Given the description of an element on the screen output the (x, y) to click on. 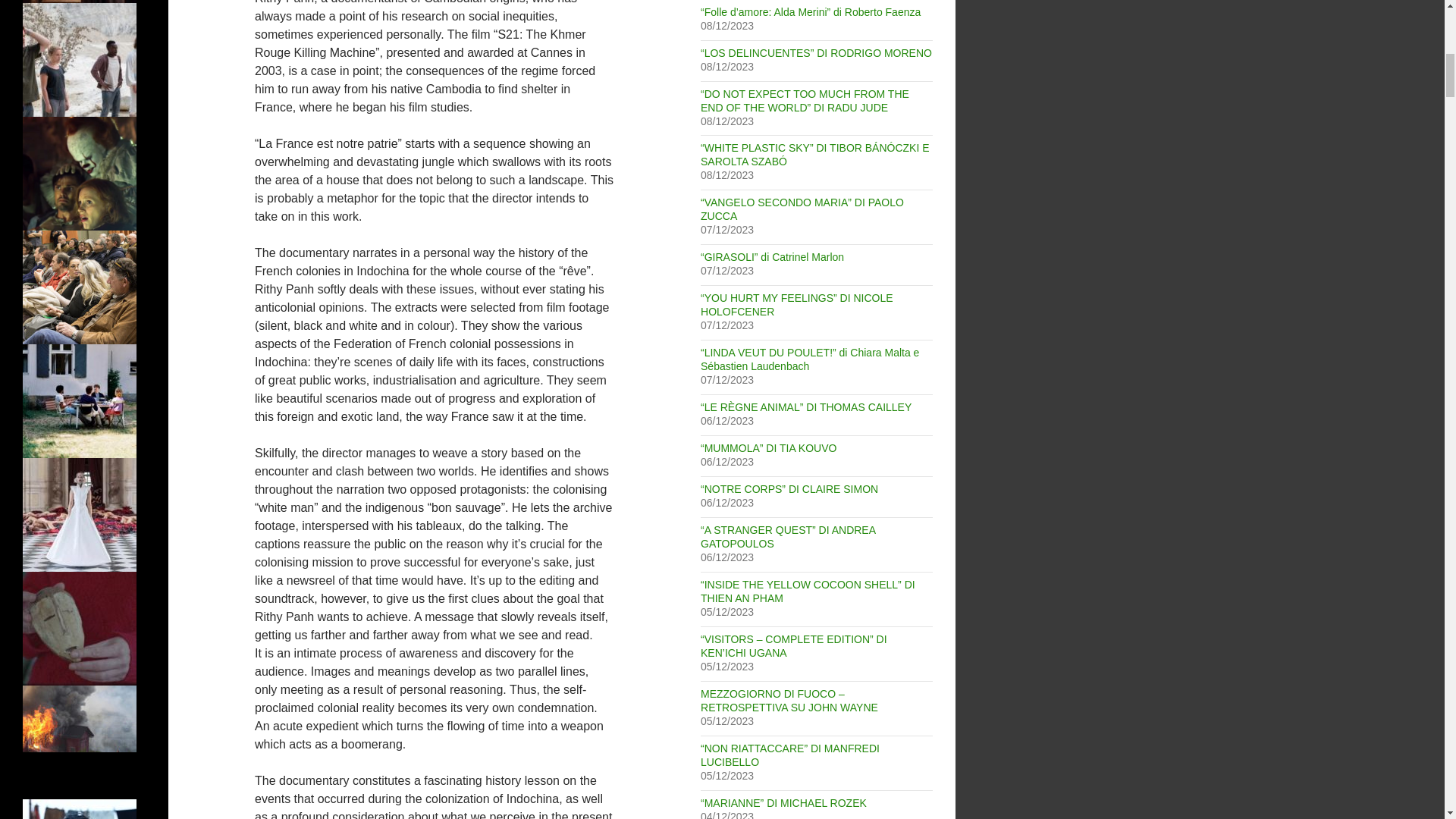
it-capitolo-2-recensione-2 (79, 173)
it-capitolo-2-recensione-2 (79, 172)
gli-studenti-americani-e-pelle-maxw-814 (79, 59)
3150cbf0a3 (79, 513)
3150cbf0a3 (79, 514)
gli-studenti-americani-e-pelle-maxw-814 (79, 60)
serata finale piemonte movie 2016 (79, 286)
serata finale piemonte movie 2016 (79, 286)
